Given the description of an element on the screen output the (x, y) to click on. 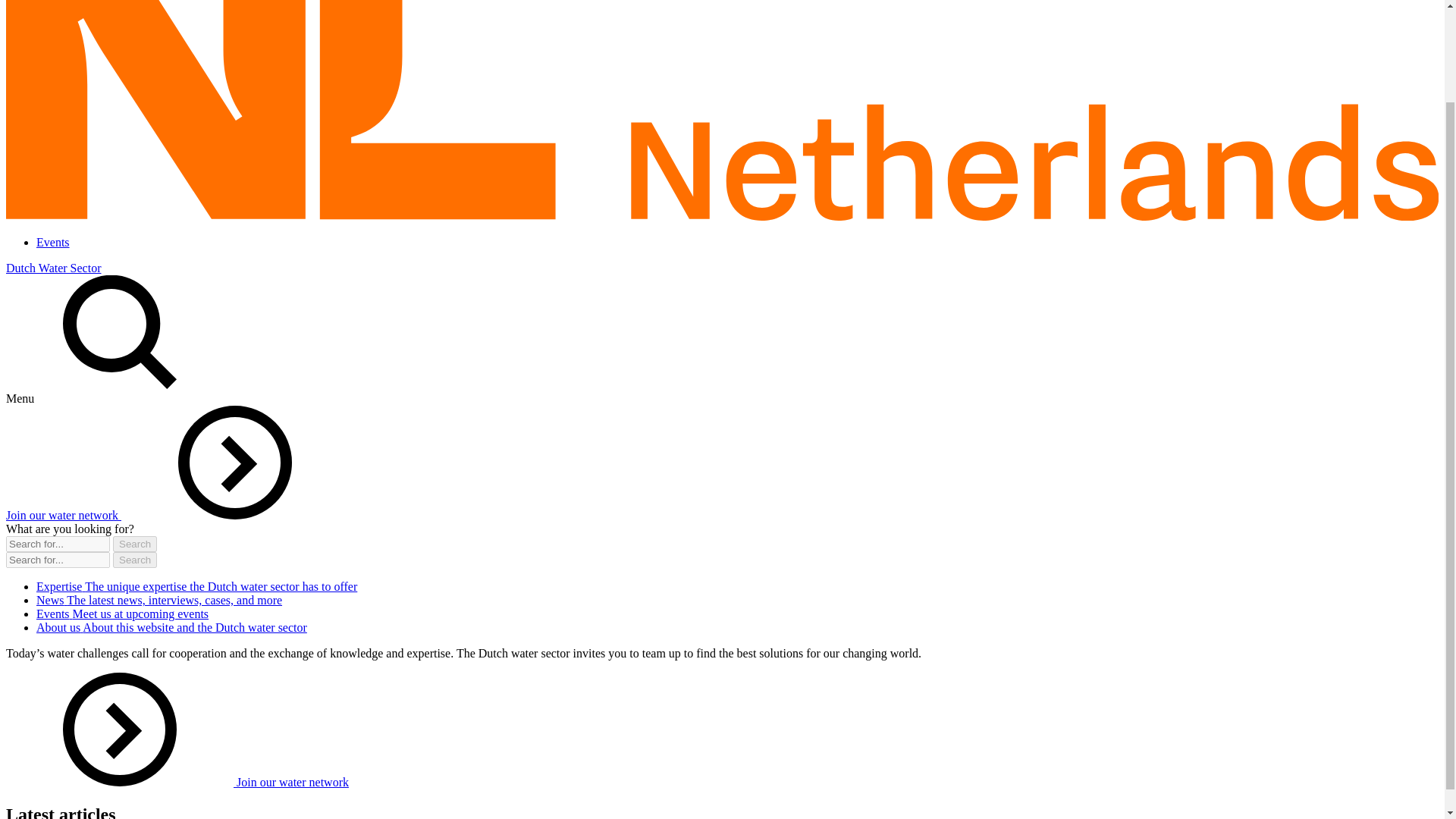
About us About this website and the Dutch water sector (171, 626)
Search (135, 544)
Dutch Water Sector (52, 267)
Enter the terms you wish to search for. (57, 544)
Search (135, 560)
Events Meet us at upcoming events (122, 613)
News The latest news, interviews, cases, and more (159, 599)
Search (135, 560)
Search (135, 560)
Join our water network (177, 781)
Join our water network (177, 514)
Search (135, 544)
Search (135, 544)
Enter the terms you wish to search for. (57, 560)
